Given the description of an element on the screen output the (x, y) to click on. 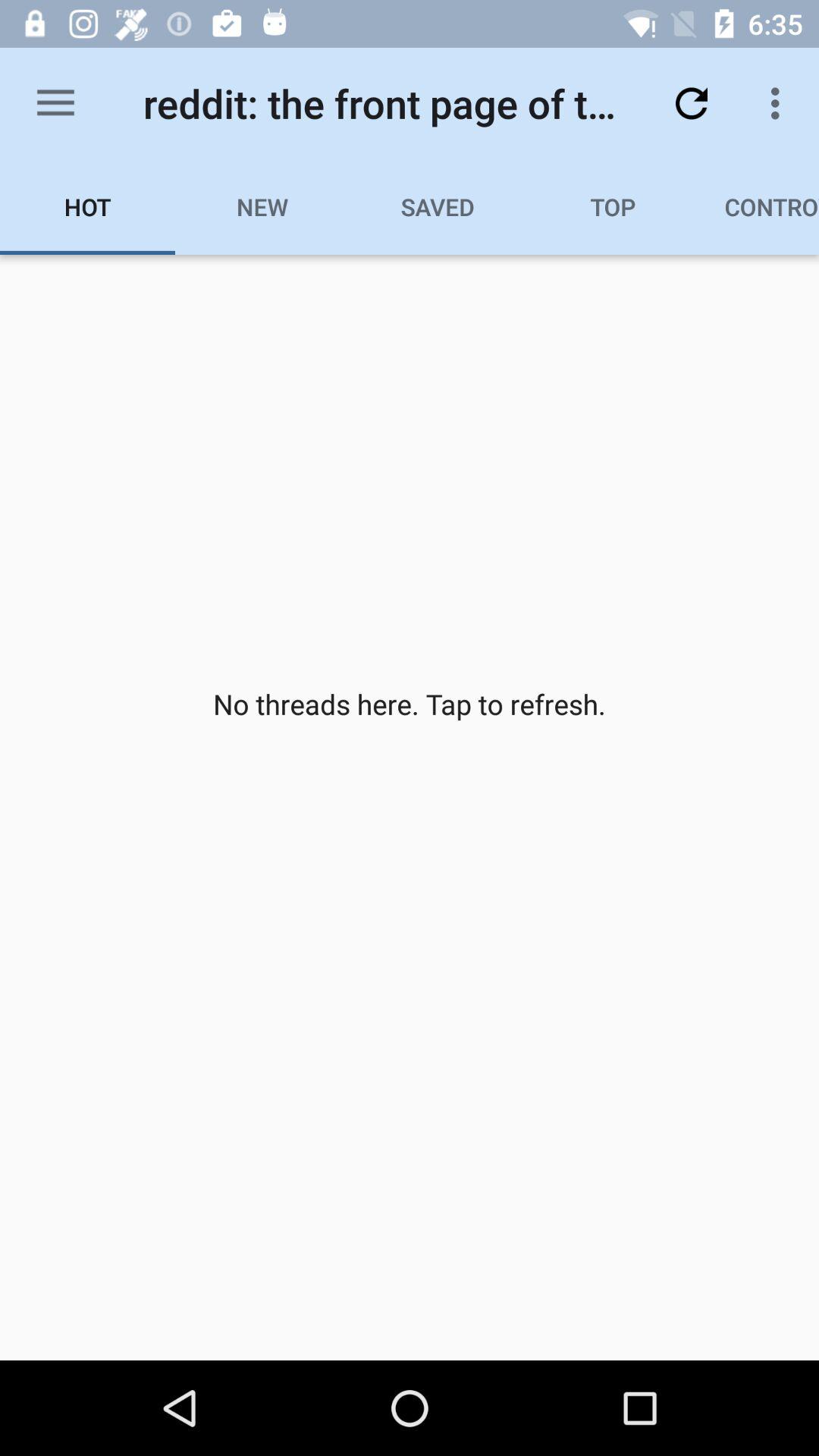
select the item above top (691, 103)
